Given the description of an element on the screen output the (x, y) to click on. 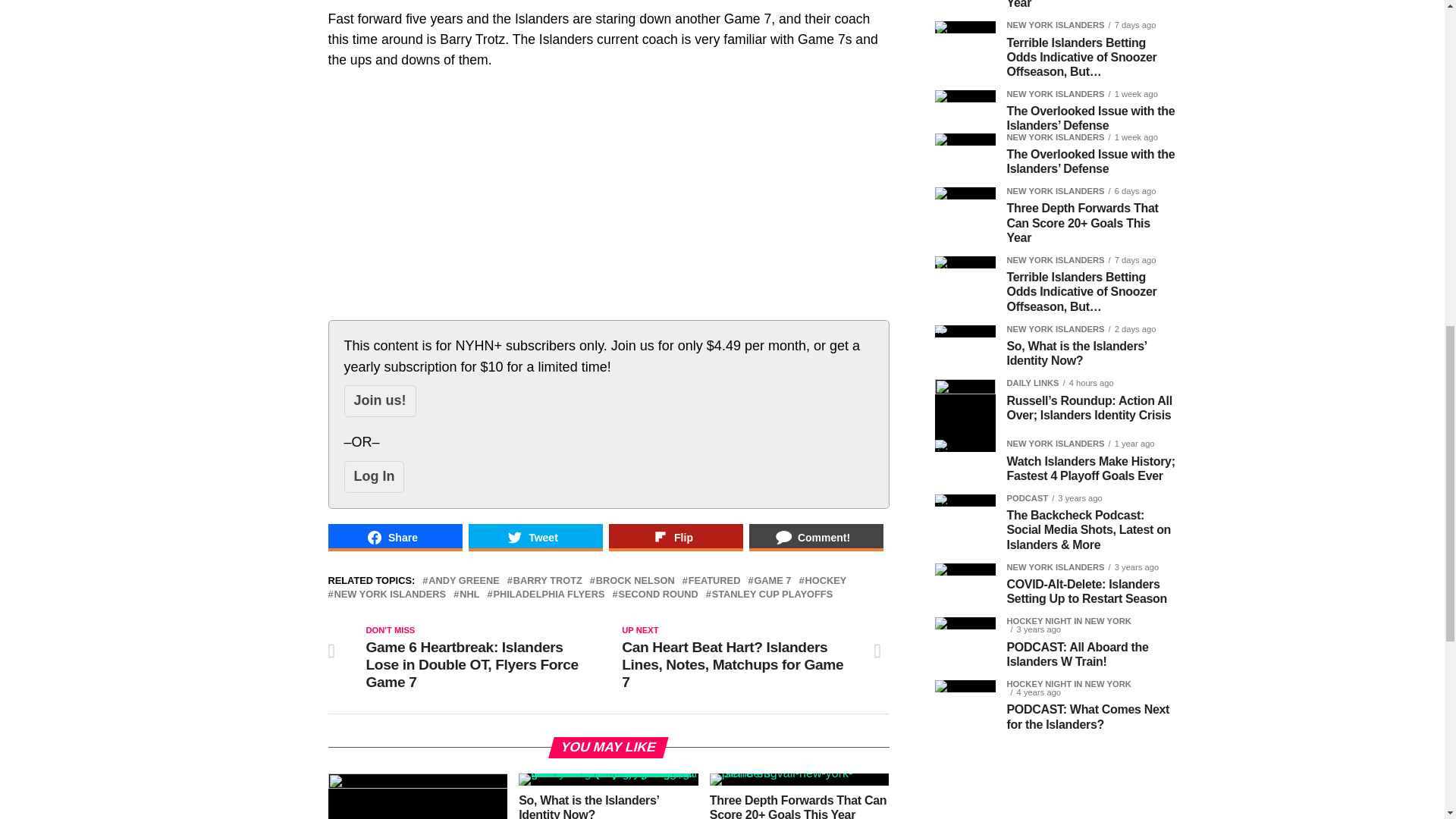
Share on Tweet (535, 537)
Share on Comment! (816, 537)
Share on Flip (675, 537)
Share on Share (394, 537)
